Given the description of an element on the screen output the (x, y) to click on. 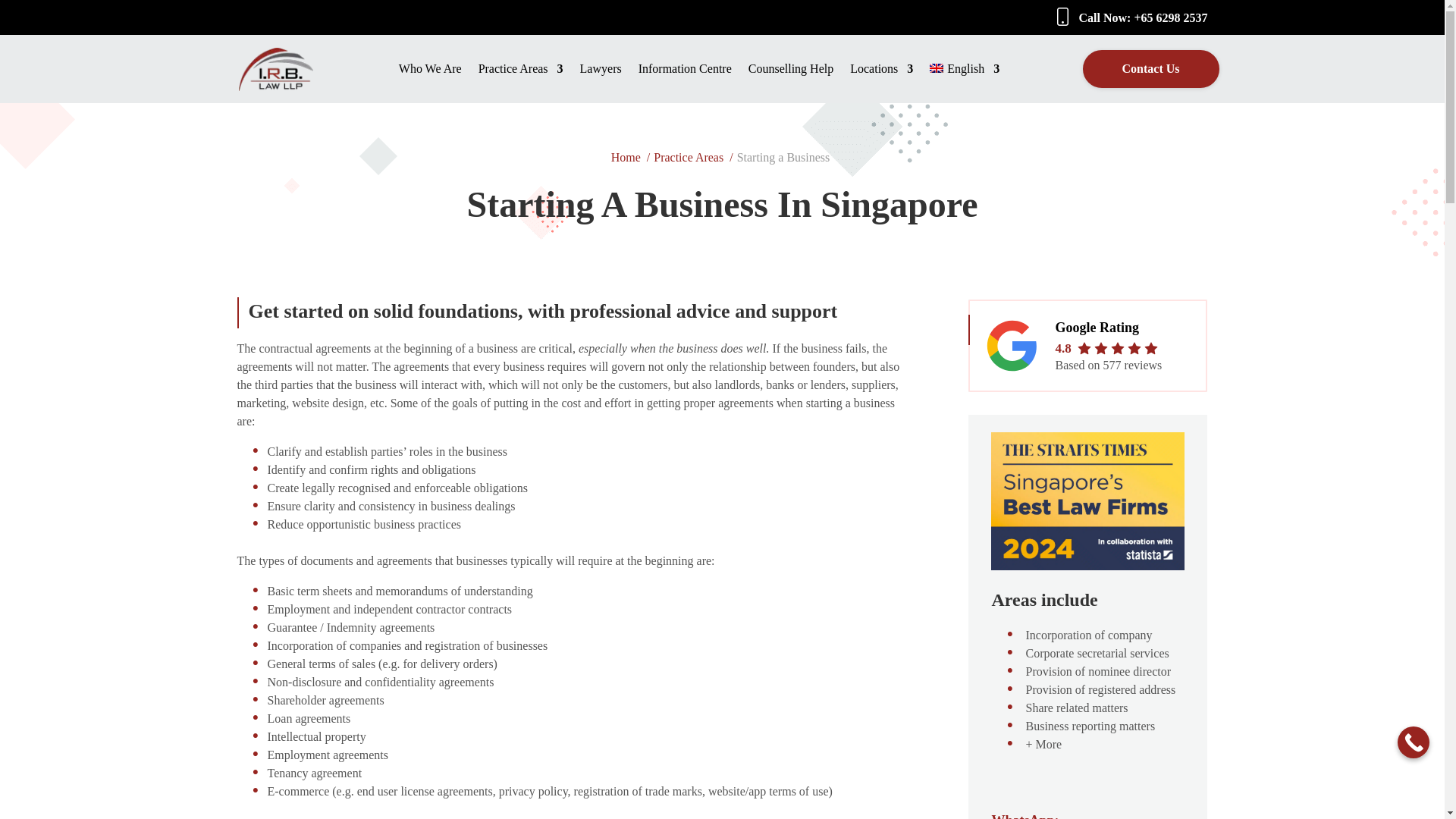
Who We Are (429, 83)
Practice Areas (521, 83)
Irb Logo New (274, 86)
English (964, 83)
Best Law Firm Singapore 2024 (1088, 565)
